Given the description of an element on the screen output the (x, y) to click on. 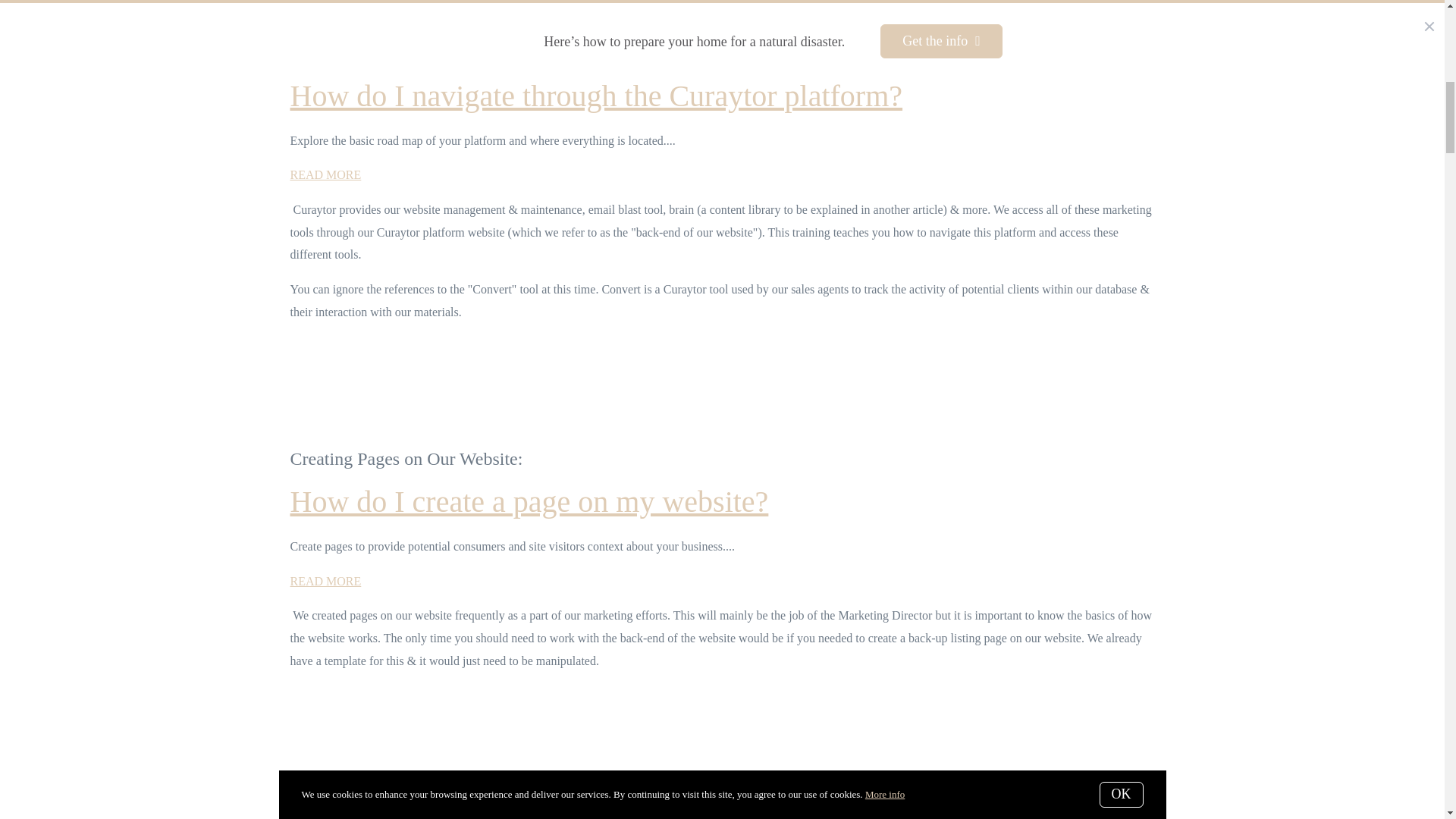
How do I create a  page on my website? (325, 581)
How do I create a  page on my website? (528, 501)
How do I navigate through the Curaytor platform? (325, 174)
How do I navigate through the Curaytor platform? (595, 95)
